Given the description of an element on the screen output the (x, y) to click on. 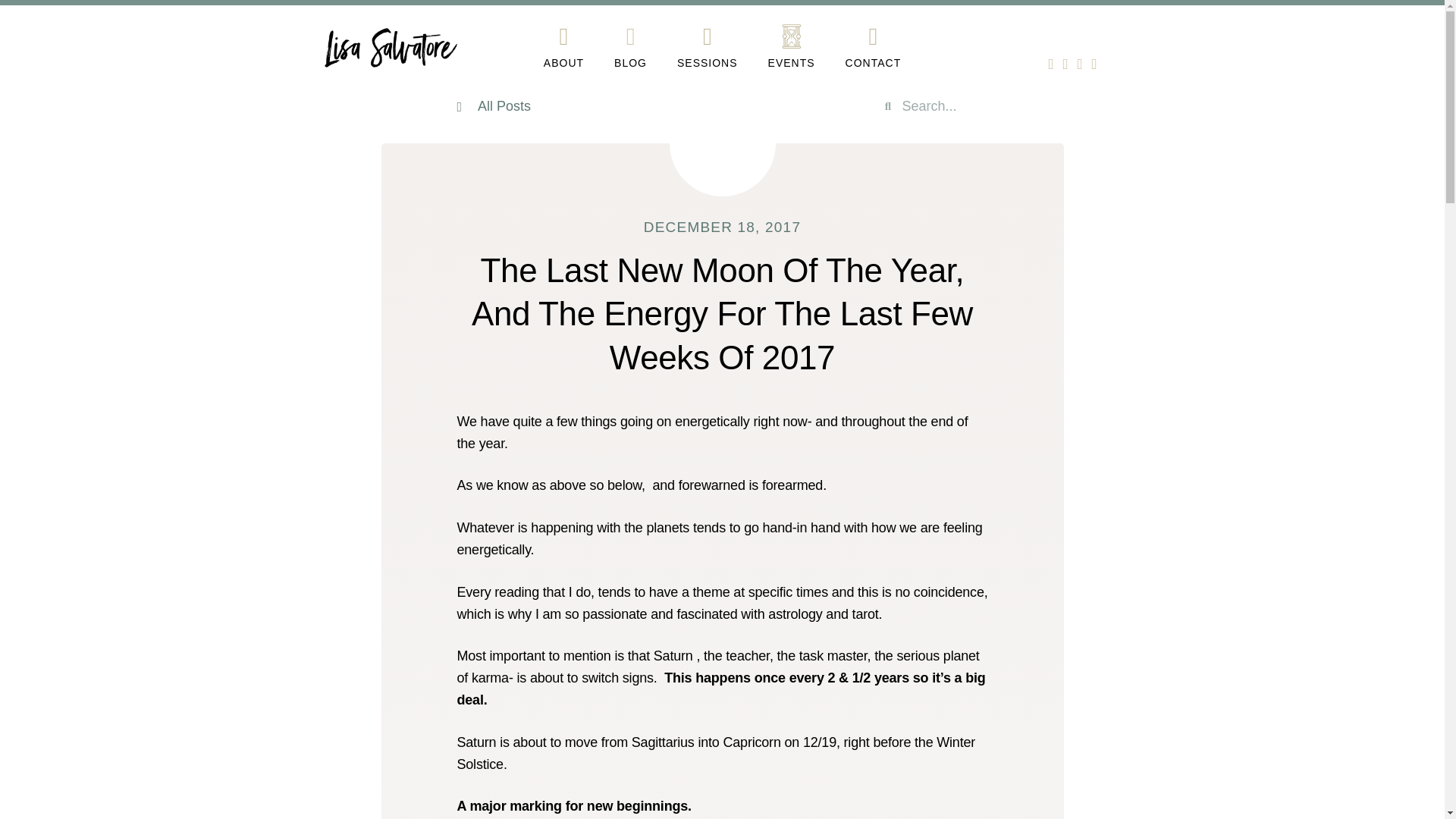
ABOUT (563, 62)
SESSIONS (707, 62)
All Posts (532, 106)
BLOG (630, 62)
CONTACT (873, 62)
EVENTS (791, 62)
